Given the description of an element on the screen output the (x, y) to click on. 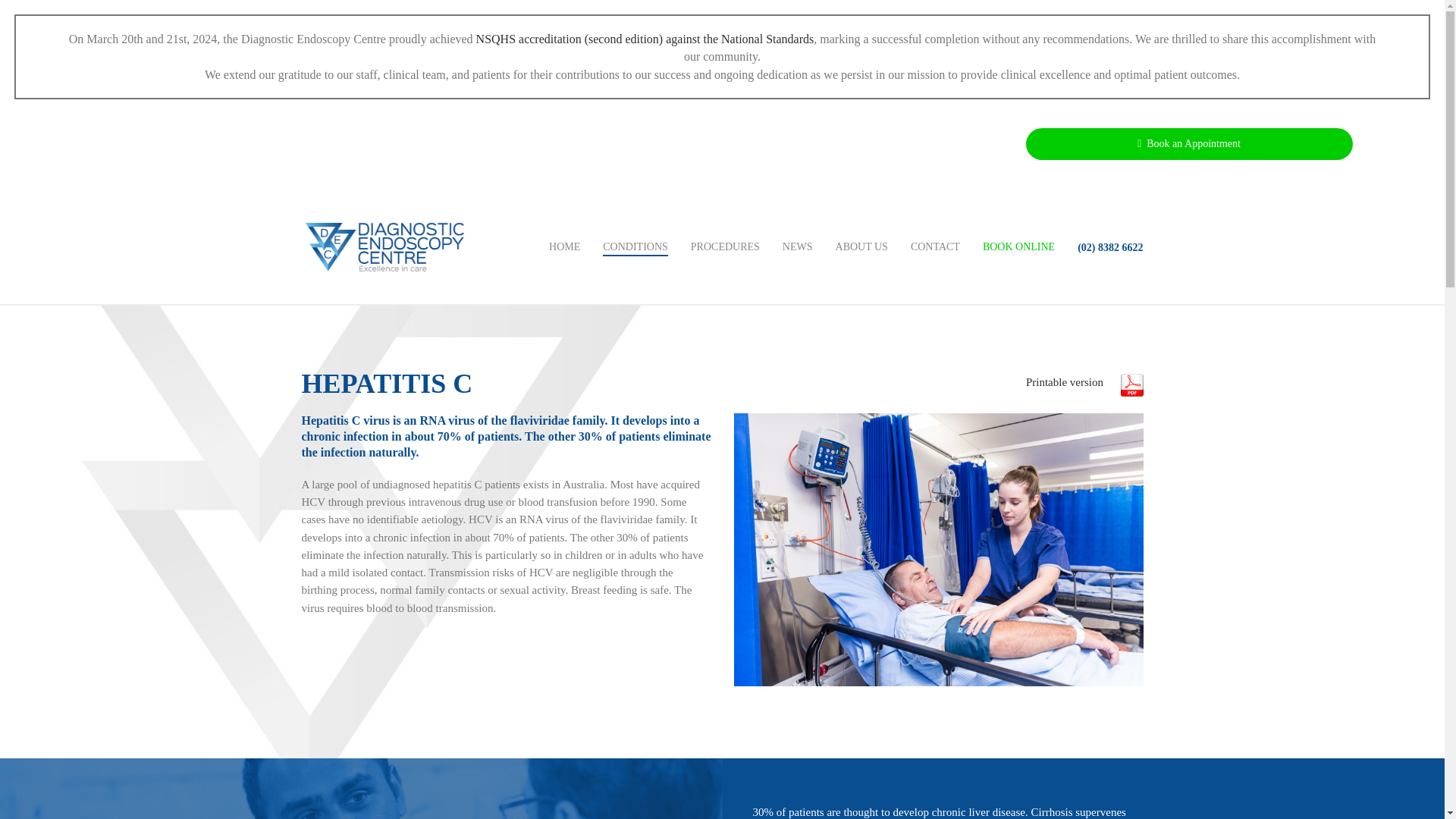
NEWS (797, 247)
CONDITIONS (635, 247)
PROCEDURES (725, 247)
HOME (564, 247)
CONTACT (935, 247)
l82mqkj4 (937, 549)
CONDITIONS (635, 247)
PROCEDURES (725, 247)
Diagnostic Endoscopy Centre (384, 246)
NEWS (797, 247)
